Given the description of an element on the screen output the (x, y) to click on. 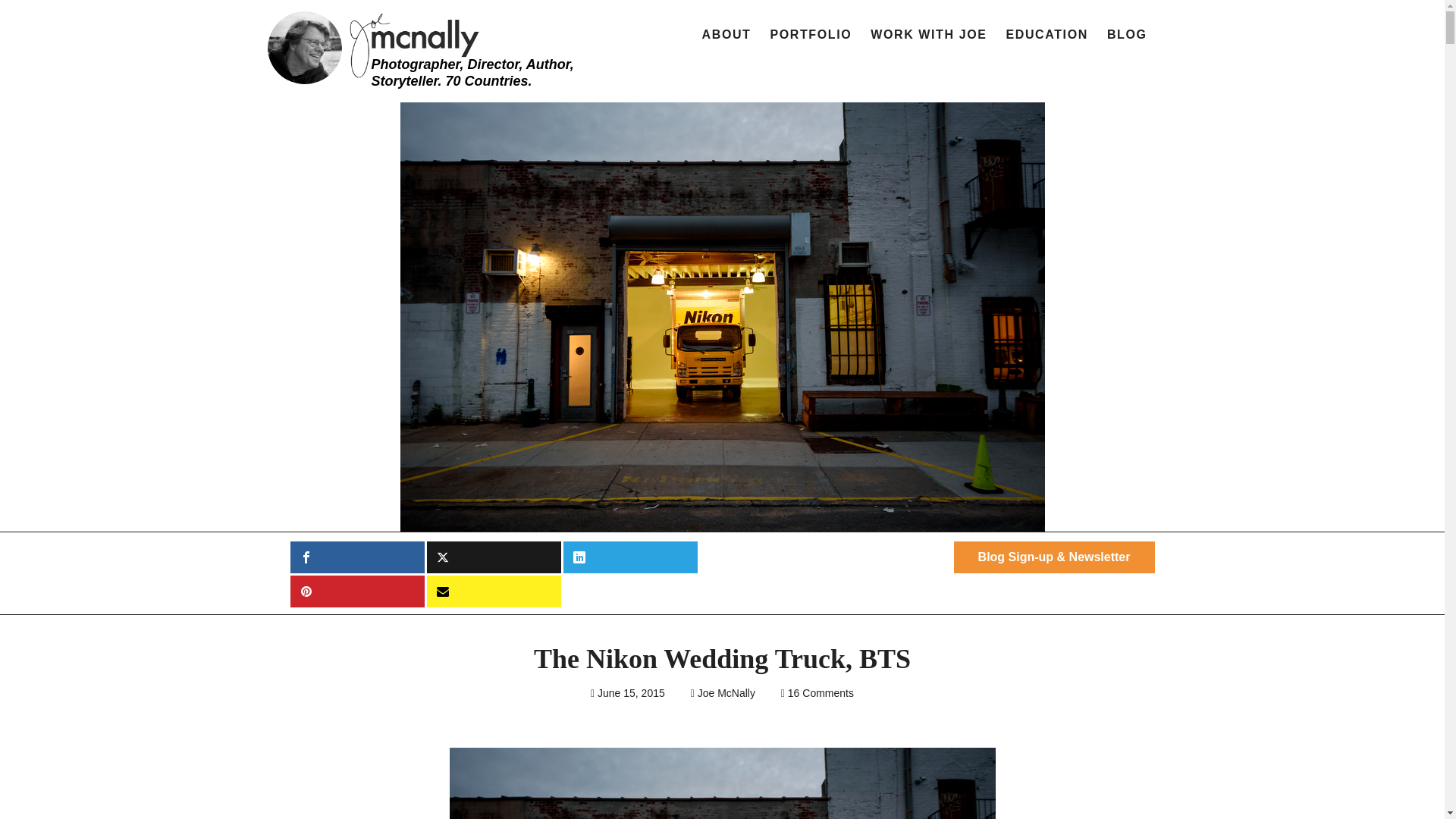
EDUCATION (1046, 35)
BLOG (1126, 35)
Facebook (356, 557)
Twitter (493, 557)
Linkedin (629, 557)
joe mcnally photography (424, 45)
WORK WITH JOE (928, 35)
16 Comments (820, 693)
Pinterest (356, 591)
ABOUT (726, 35)
Joe McNally (726, 693)
PORTFOLIO (810, 35)
Subscribe (493, 591)
